Given the description of an element on the screen output the (x, y) to click on. 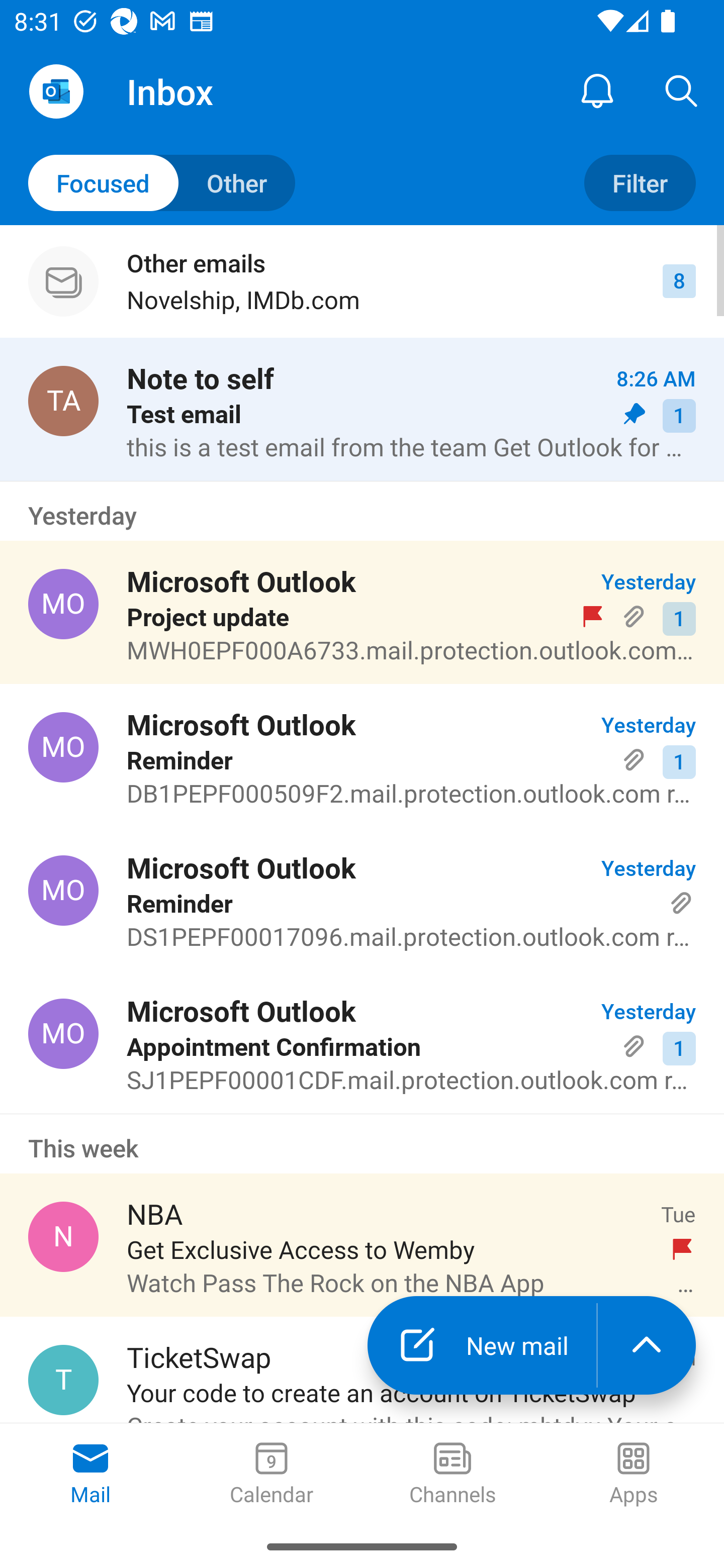
Notification Center (597, 90)
Search, ,  (681, 90)
Open Navigation Drawer (55, 91)
Toggle to other mails (161, 183)
Filter (639, 183)
Other emails Novelship, IMDb.com 8 (362, 281)
Test Appium, testappium002@outlook.com (63, 400)
NBA, NBA@email.nba.com (63, 1236)
New mail (481, 1344)
launch the extended action menu (646, 1344)
TicketSwap, info@ticketswap.com (63, 1380)
Calendar (271, 1474)
Channels (452, 1474)
Apps (633, 1474)
